Given the description of an element on the screen output the (x, y) to click on. 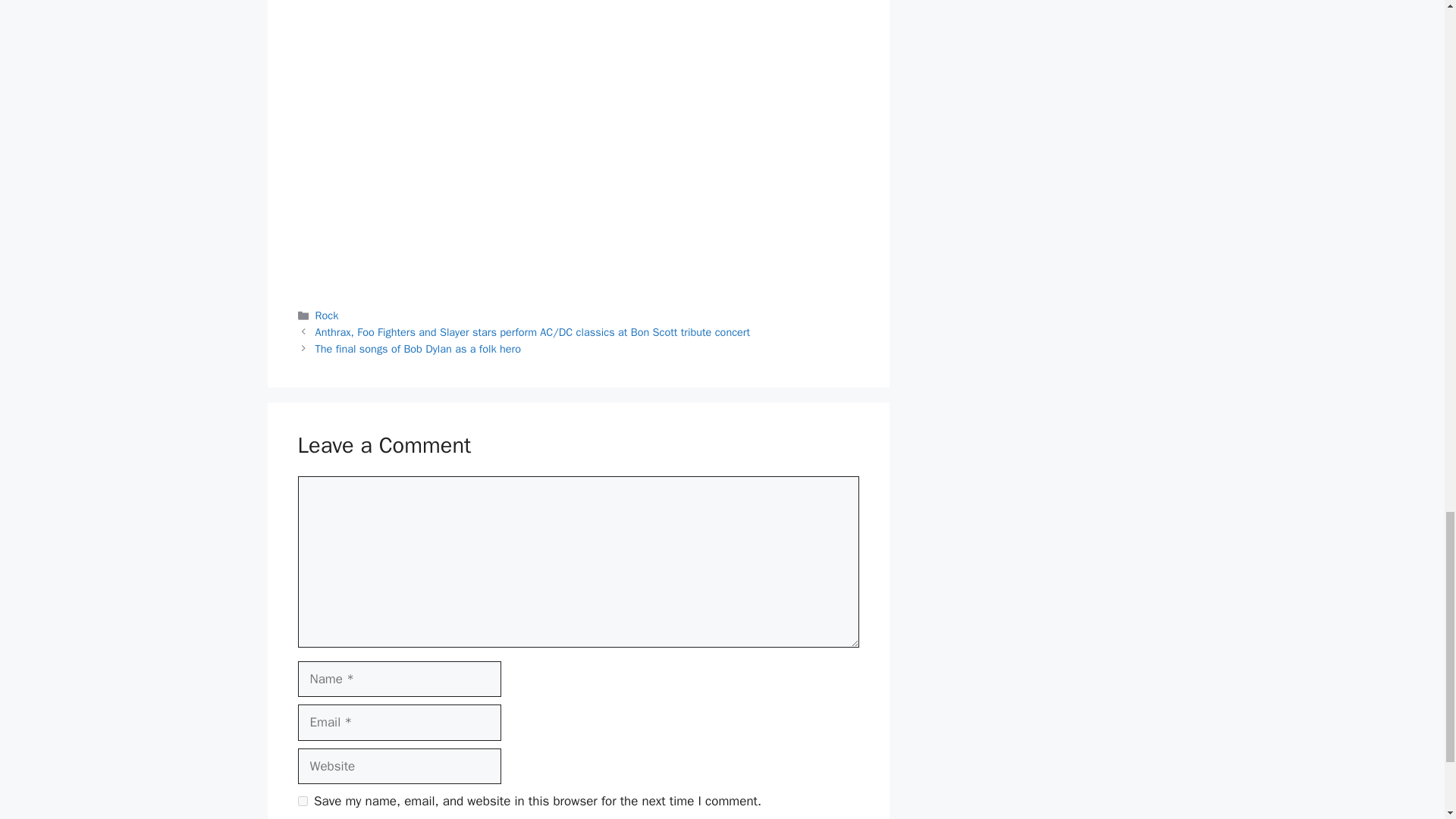
yes (302, 800)
The final songs of Bob Dylan as a folk hero (418, 348)
Rock (327, 315)
